Given the description of an element on the screen output the (x, y) to click on. 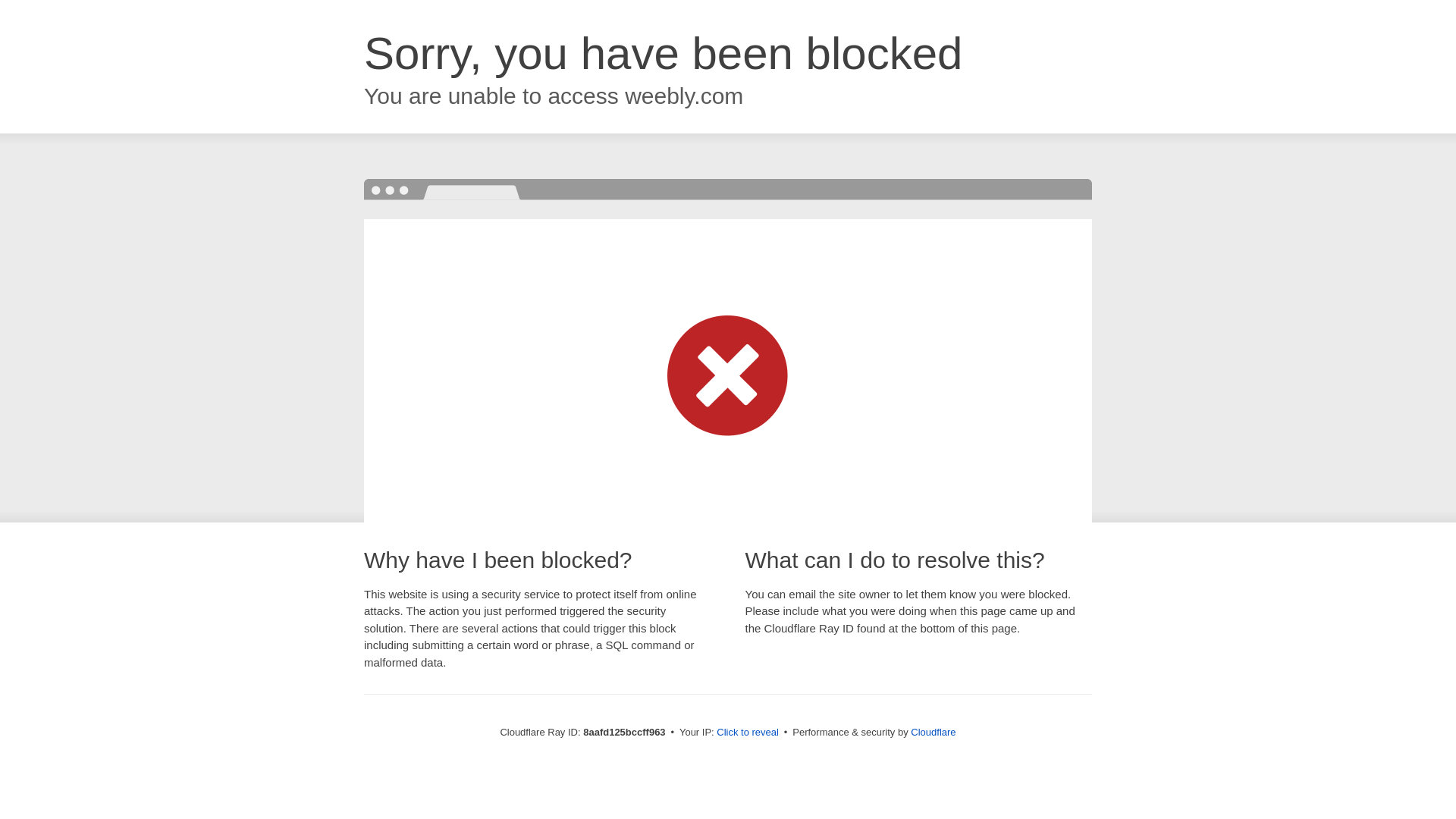
Cloudflare (933, 731)
Click to reveal (747, 732)
